Given the description of an element on the screen output the (x, y) to click on. 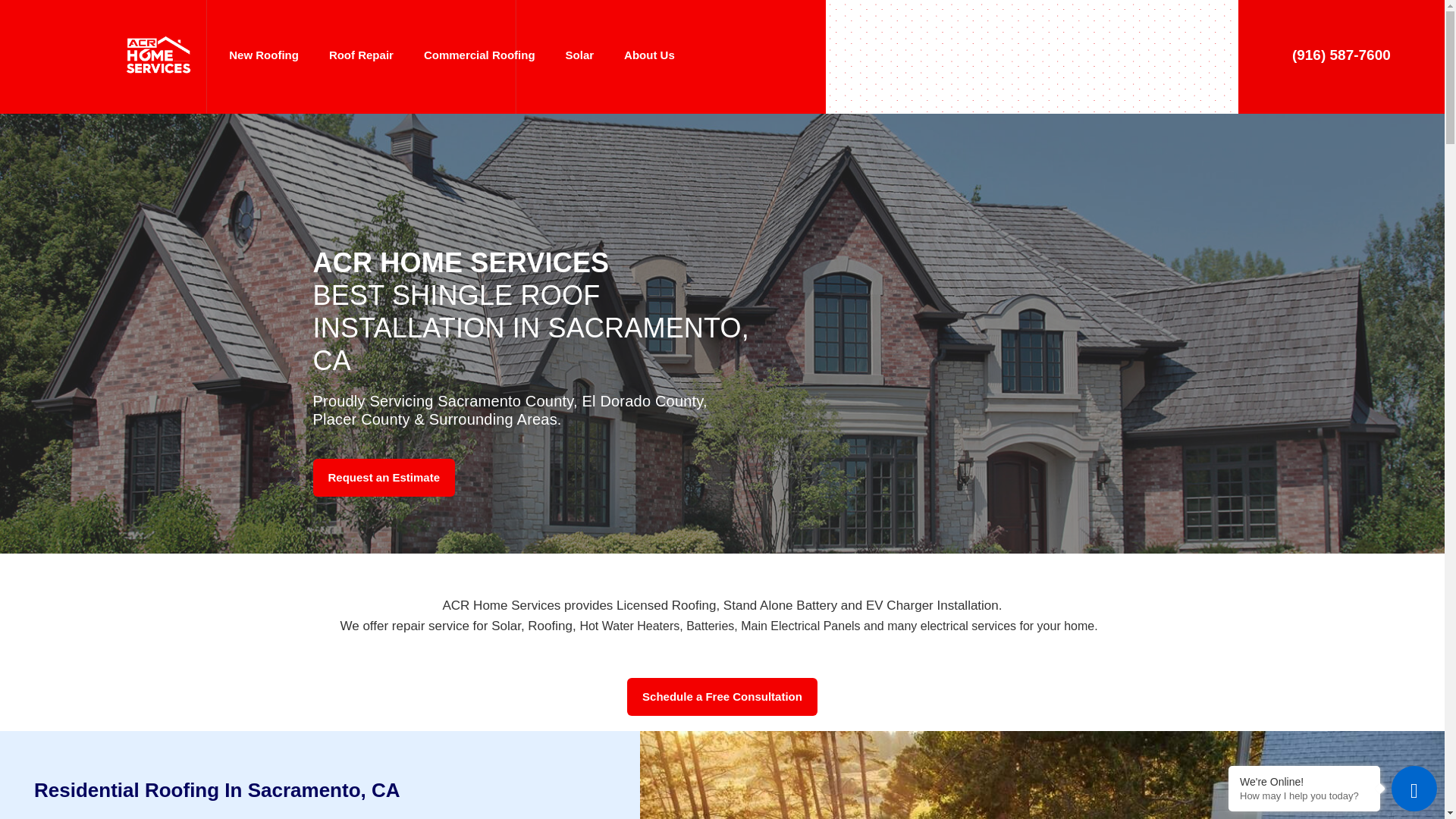
Roof Repair (361, 54)
About Us (649, 54)
Commercial Roofing (479, 54)
We're Online! (1304, 781)
New Roofing (264, 54)
Solar (580, 54)
How may I help you today? (1304, 795)
